Given the description of an element on the screen output the (x, y) to click on. 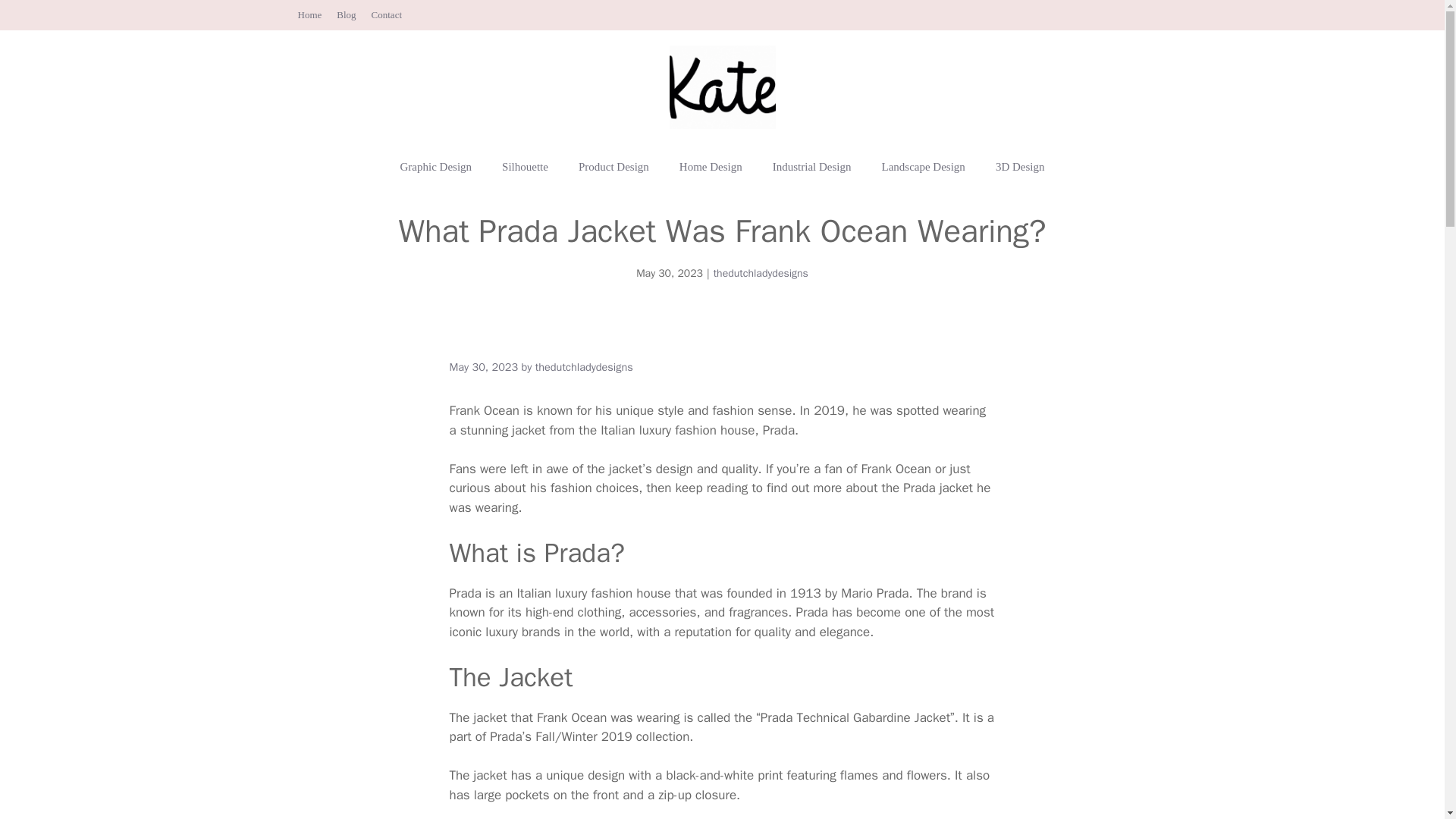
3D Design (1019, 166)
Graphic Design (436, 166)
Contact (386, 14)
Silhouette (524, 166)
Industrial Design (811, 166)
View all posts by thedutchladydesigns (584, 366)
Blog (345, 14)
Landscape Design (922, 166)
thedutchladydesigns (584, 366)
Home (309, 14)
